Given the description of an element on the screen output the (x, y) to click on. 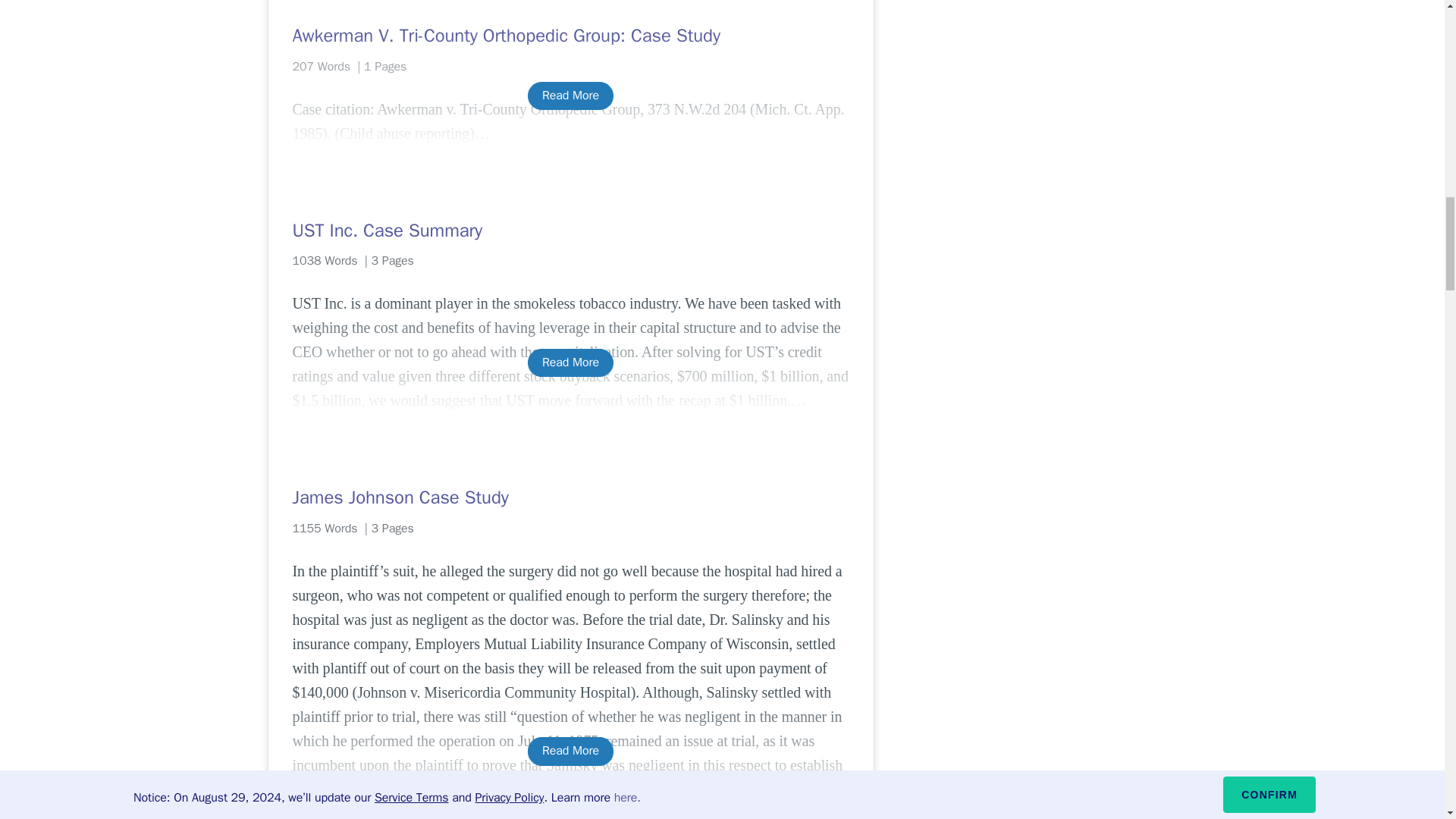
Awkerman V. Tri-County Orthopedic Group: Case Study (570, 35)
UST Inc. Case Summary (570, 230)
James Johnson Case Study (570, 497)
Read More (569, 750)
Read More (569, 362)
Read More (569, 95)
